Given the description of an element on the screen output the (x, y) to click on. 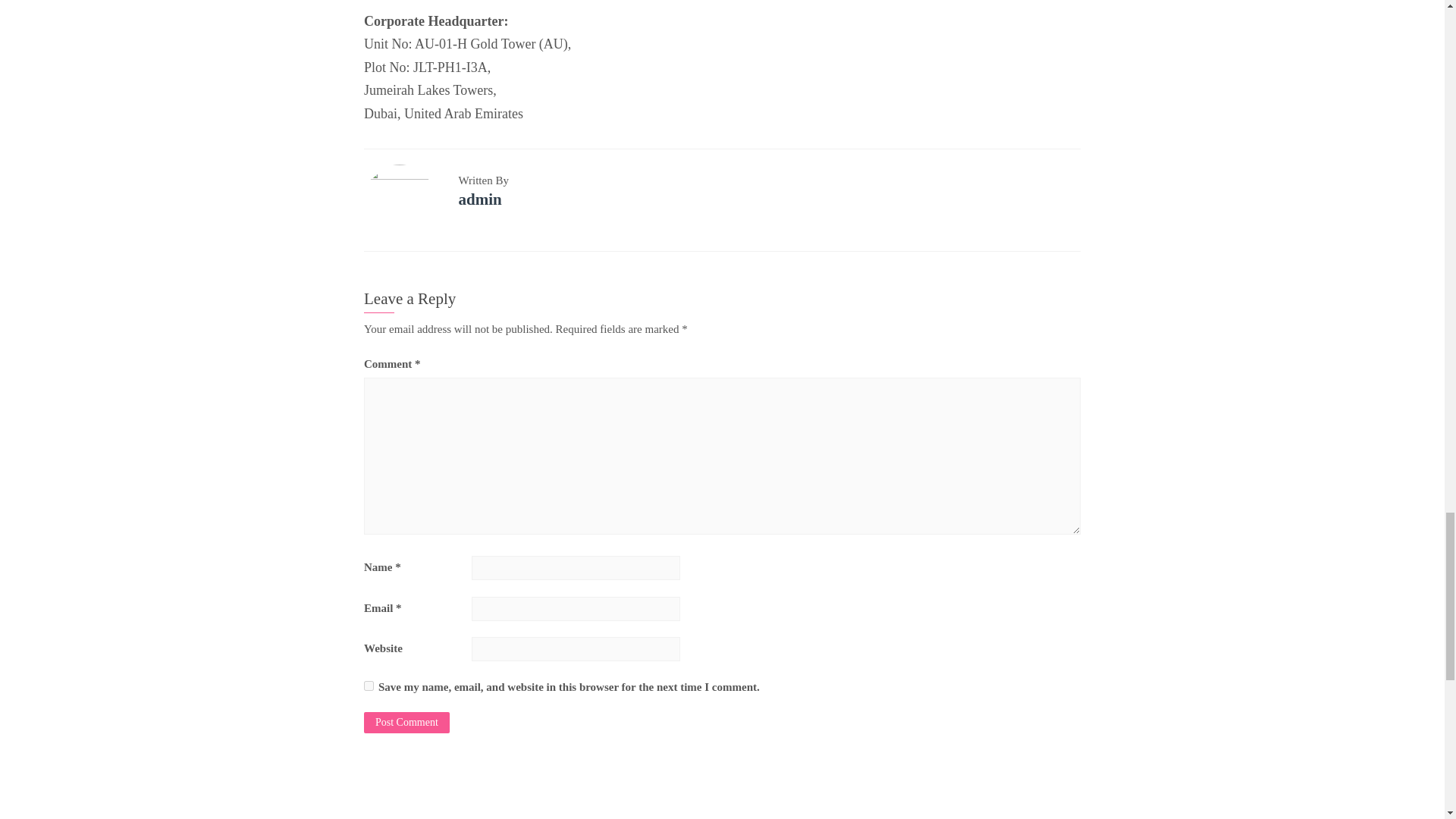
Post Comment (406, 722)
admin (479, 199)
Post Comment (406, 722)
admin (479, 199)
yes (369, 685)
